Given the description of an element on the screen output the (x, y) to click on. 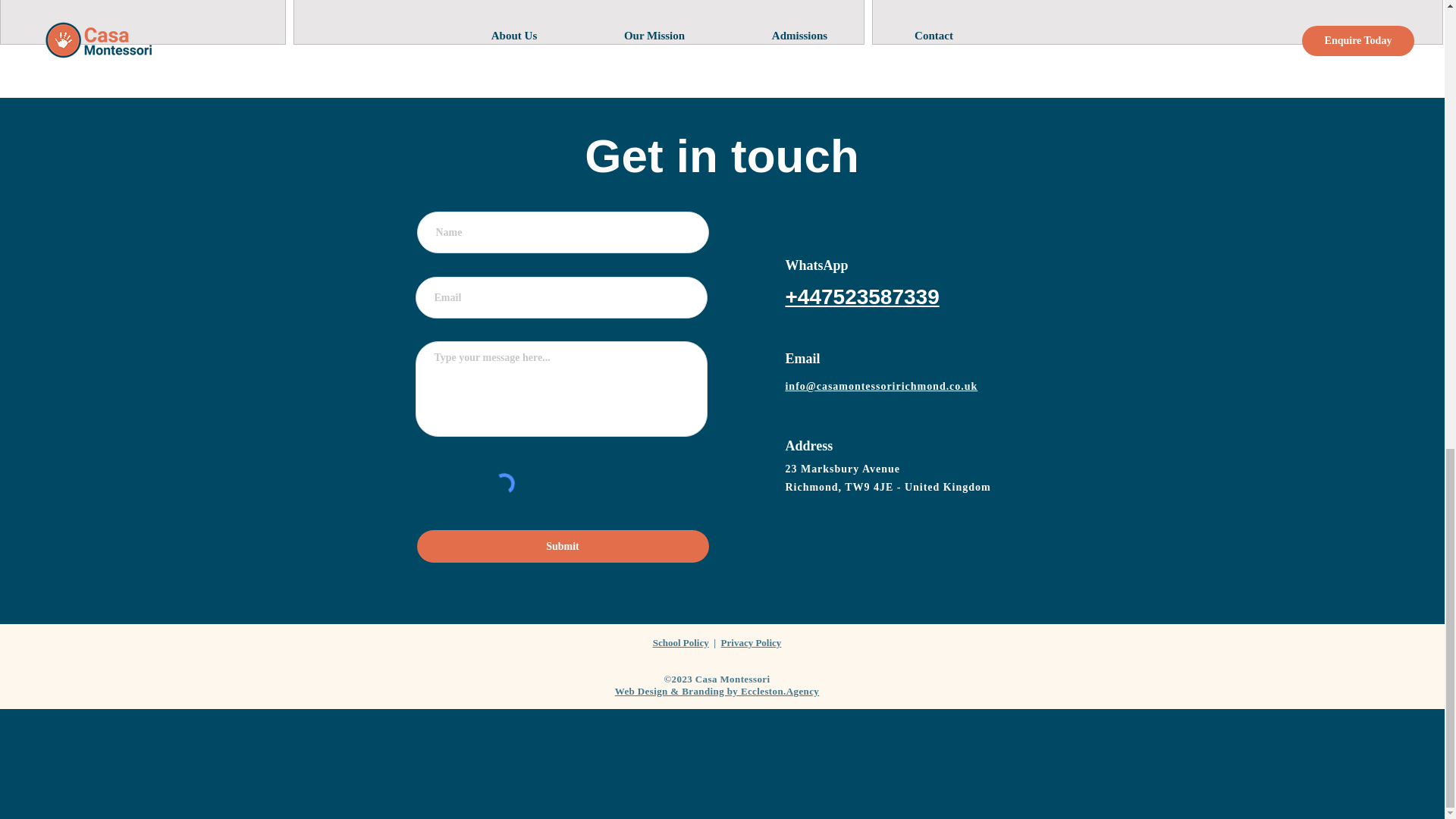
School Policy (680, 642)
Submit (562, 545)
Privacy Policy (750, 642)
